Given the description of an element on the screen output the (x, y) to click on. 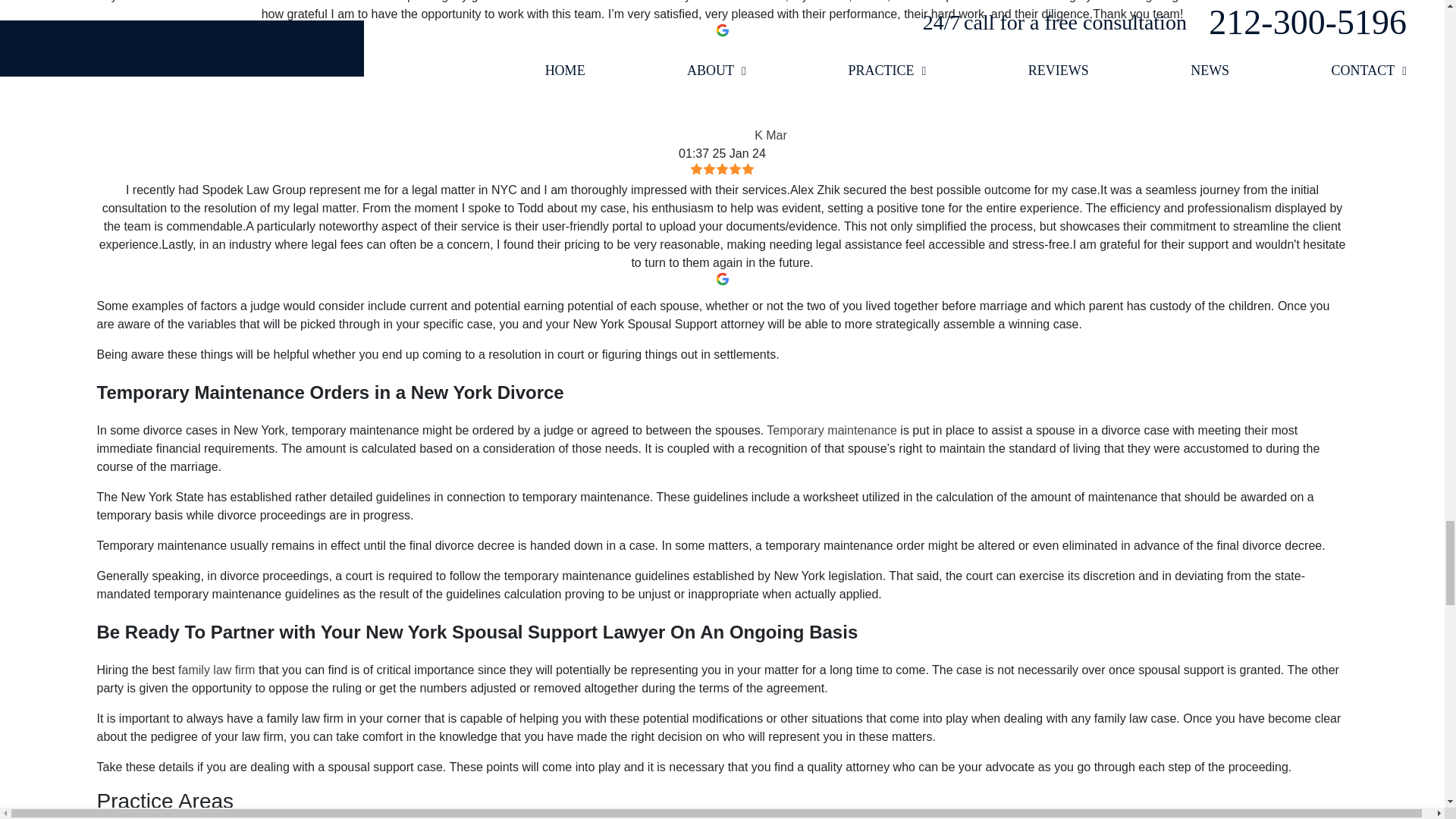
K Mar (706, 90)
